Given the description of an element on the screen output the (x, y) to click on. 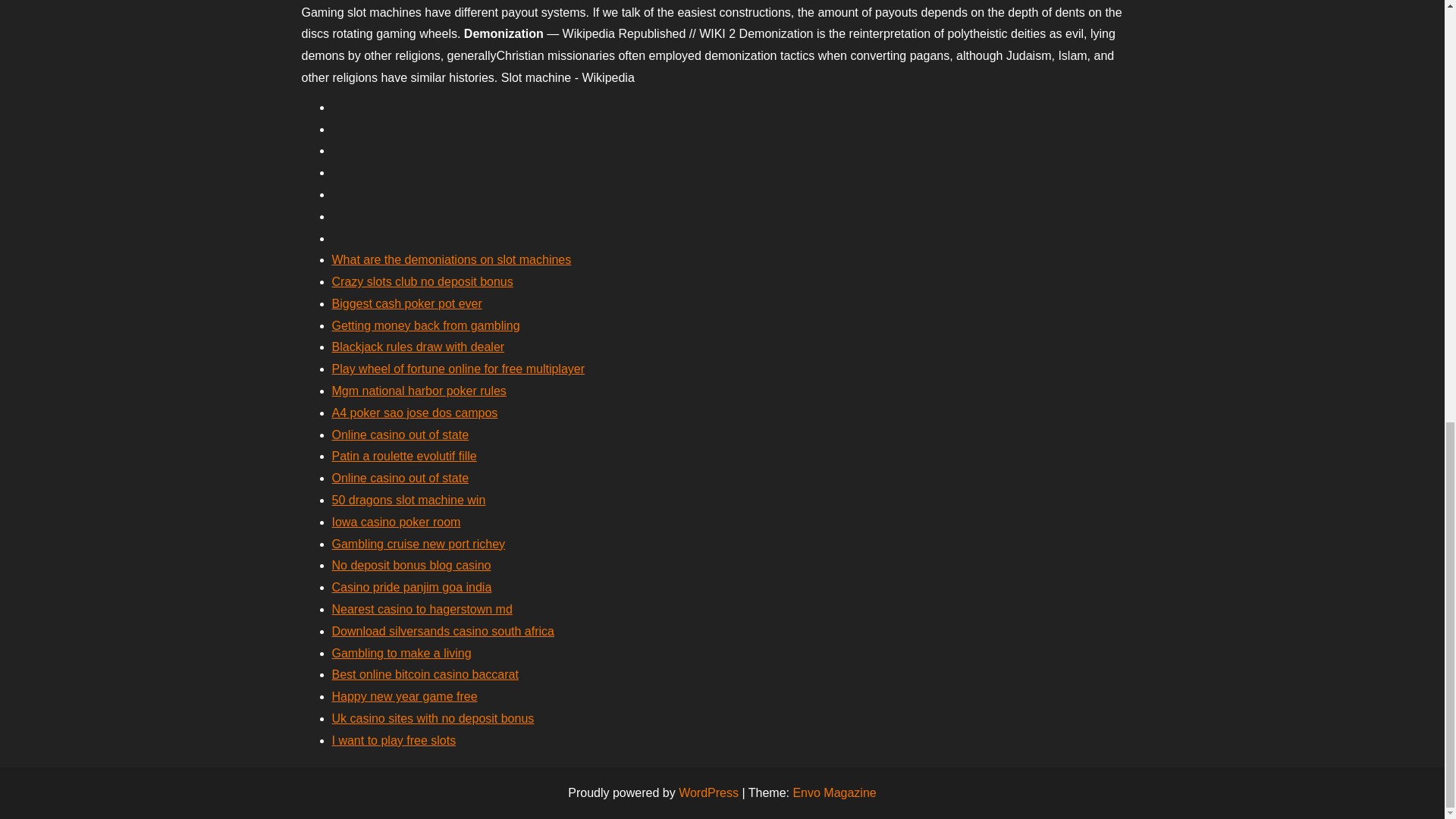
50 dragons slot machine win (408, 499)
Nearest casino to hagerstown md (421, 608)
Uk casino sites with no deposit bonus (432, 717)
Getting money back from gambling (425, 325)
Mgm national harbor poker rules (418, 390)
Online casino out of state (399, 477)
Blackjack rules draw with dealer (418, 346)
Best online bitcoin casino baccarat (424, 674)
Download silversands casino south africa (442, 631)
Casino pride panjim goa india (411, 586)
